Given the description of an element on the screen output the (x, y) to click on. 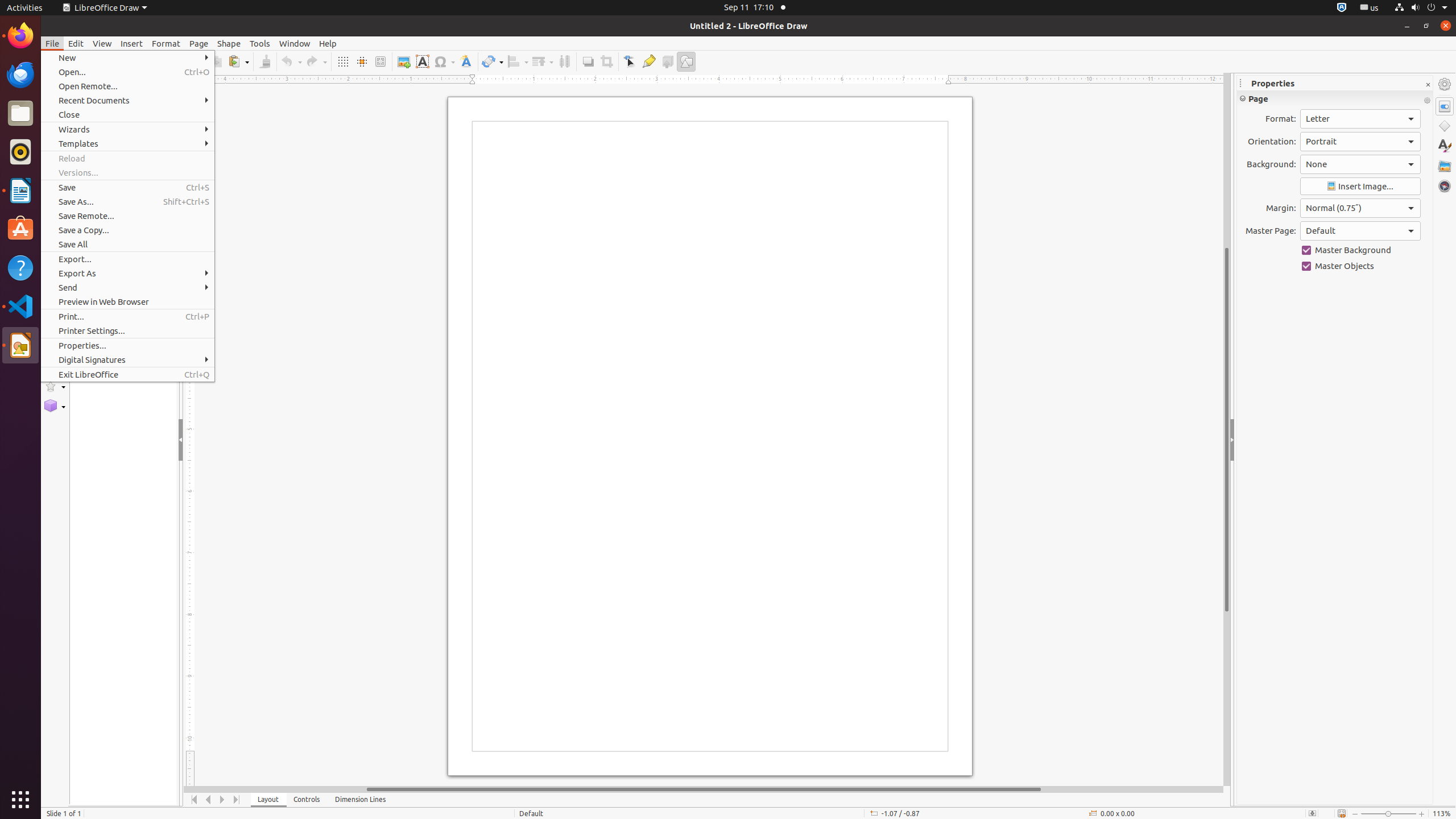
LibreOffice Draw Element type: menu (103, 7)
Properties Element type: radio-button (1444, 106)
Help Element type: menu (327, 43)
Save a Copy... Element type: menu-item (127, 229)
Gallery Element type: radio-button (1444, 165)
